Given the description of an element on the screen output the (x, y) to click on. 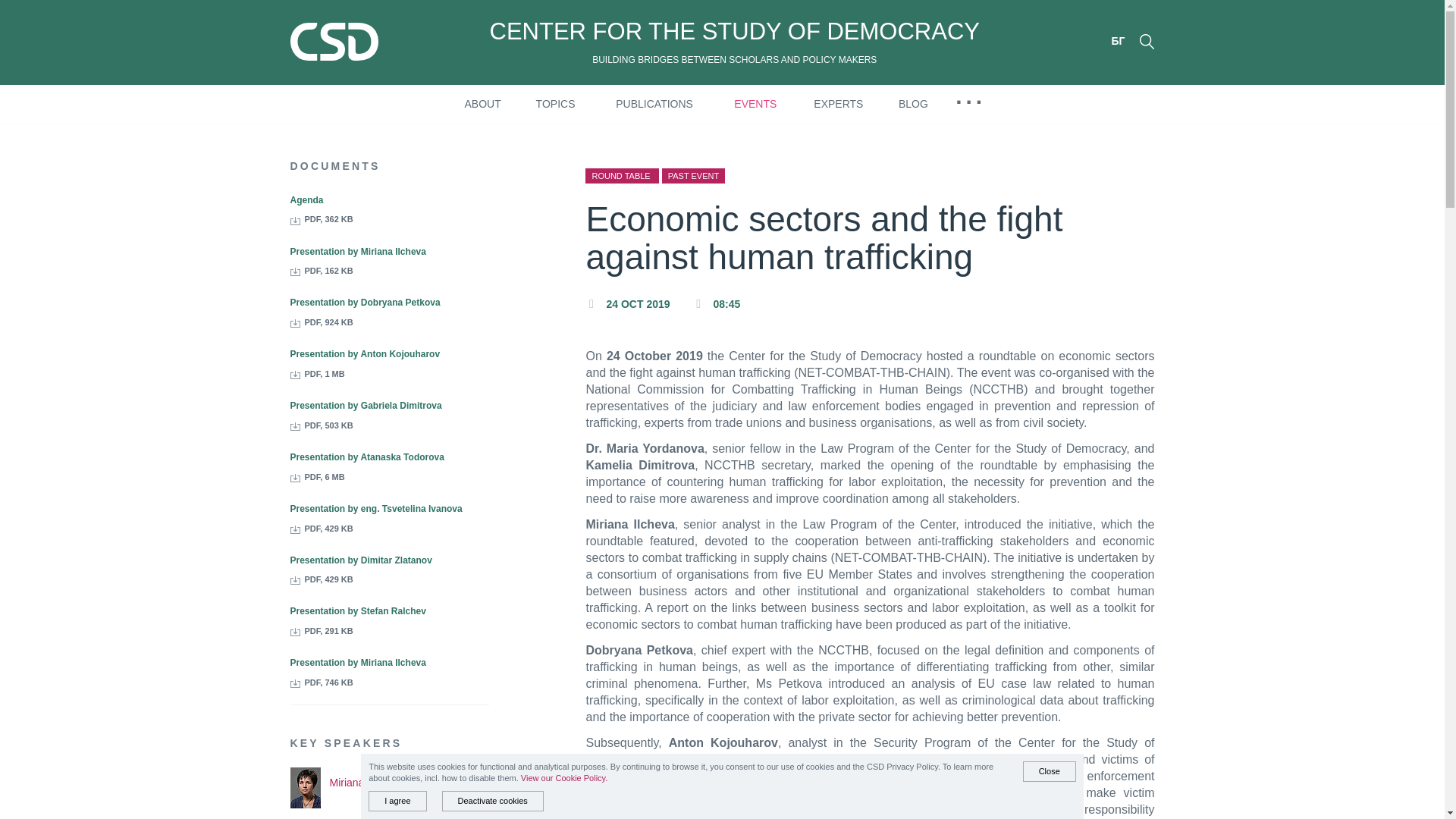
Miriana Ilcheva (364, 782)
Presentation by Dobryana Petkova (364, 302)
Presentation by Dobryana Petkova (364, 302)
Agenda (306, 199)
Presentation by Miriana Ilcheva (357, 662)
BLOG (913, 103)
PUBLICATIONS (654, 103)
Presentation by Gabriela Dimitrova (365, 405)
... (970, 95)
Experts (838, 103)
Deactivate cookies (492, 801)
Presentation by Dimitar Zlatanov (359, 560)
Agenda (306, 199)
Publications (654, 103)
